Given the description of an element on the screen output the (x, y) to click on. 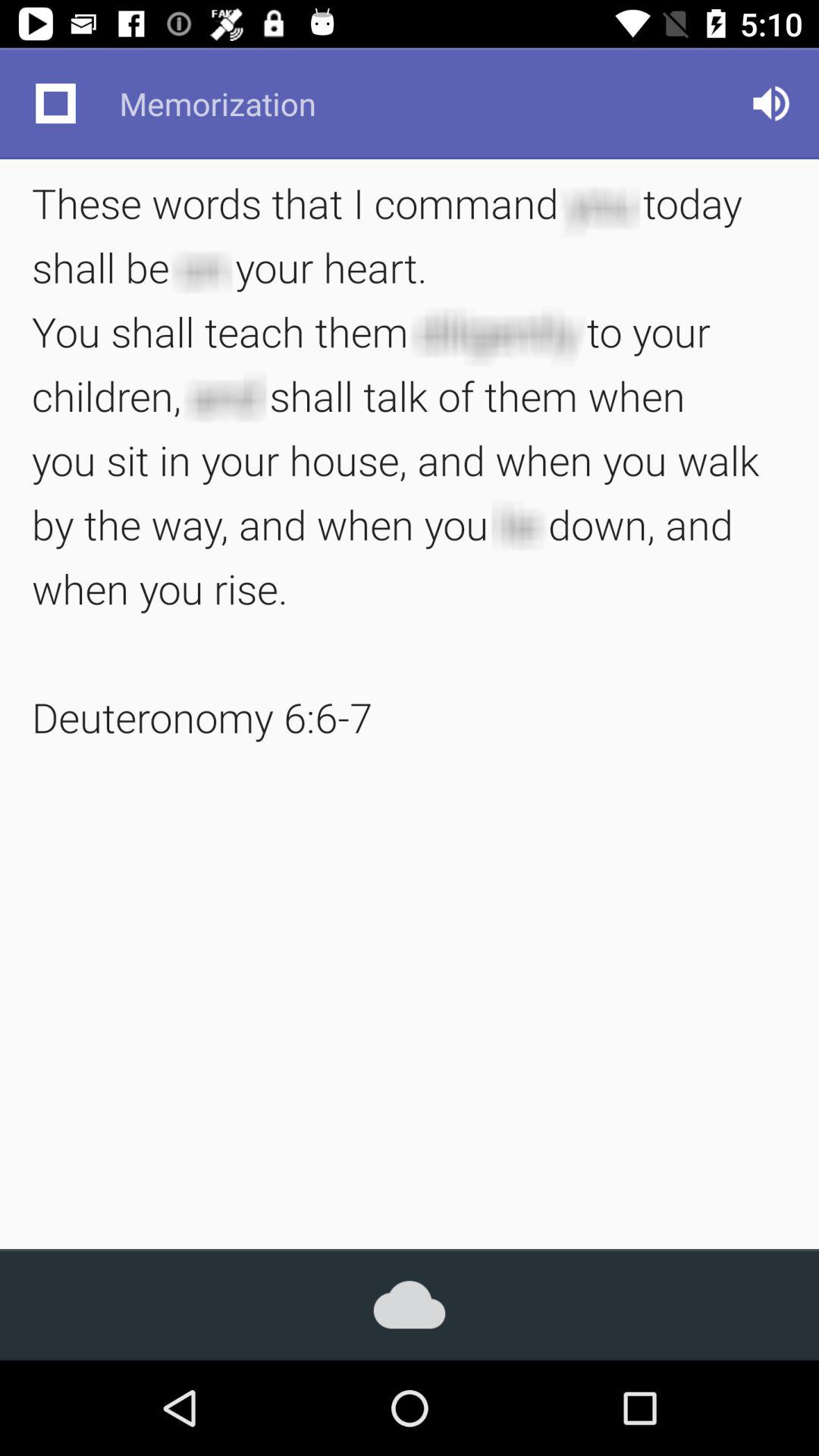
tap the app next to memorization icon (771, 103)
